Given the description of an element on the screen output the (x, y) to click on. 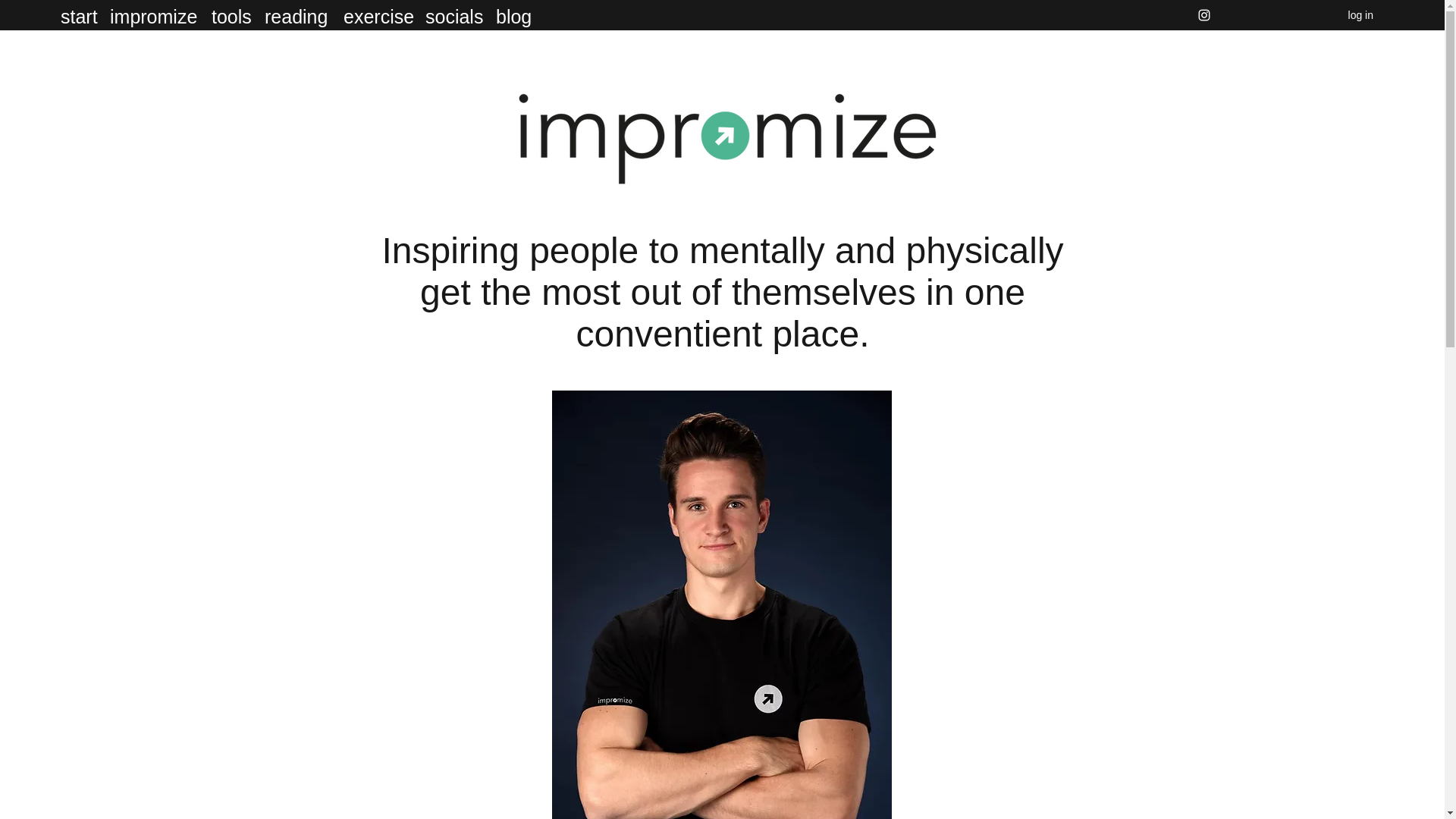
log in (1361, 15)
impromize (152, 15)
reading (296, 15)
exercise (376, 15)
start (76, 15)
blog (513, 15)
tools (230, 15)
socials (452, 15)
